Given the description of an element on the screen output the (x, y) to click on. 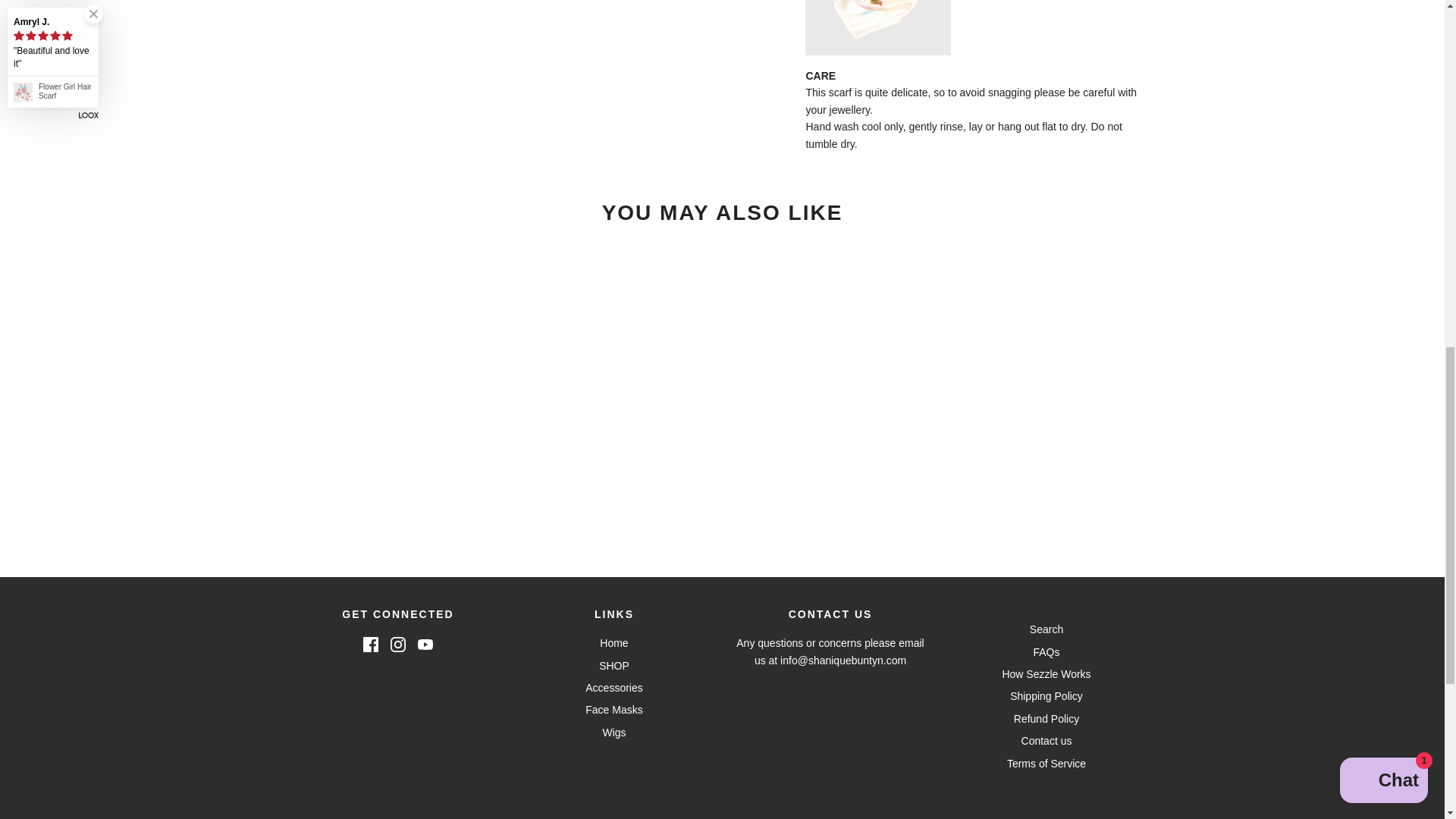
Instagram icon (398, 644)
Facebook icon (370, 644)
YouTube icon (424, 644)
